Given the description of an element on the screen output the (x, y) to click on. 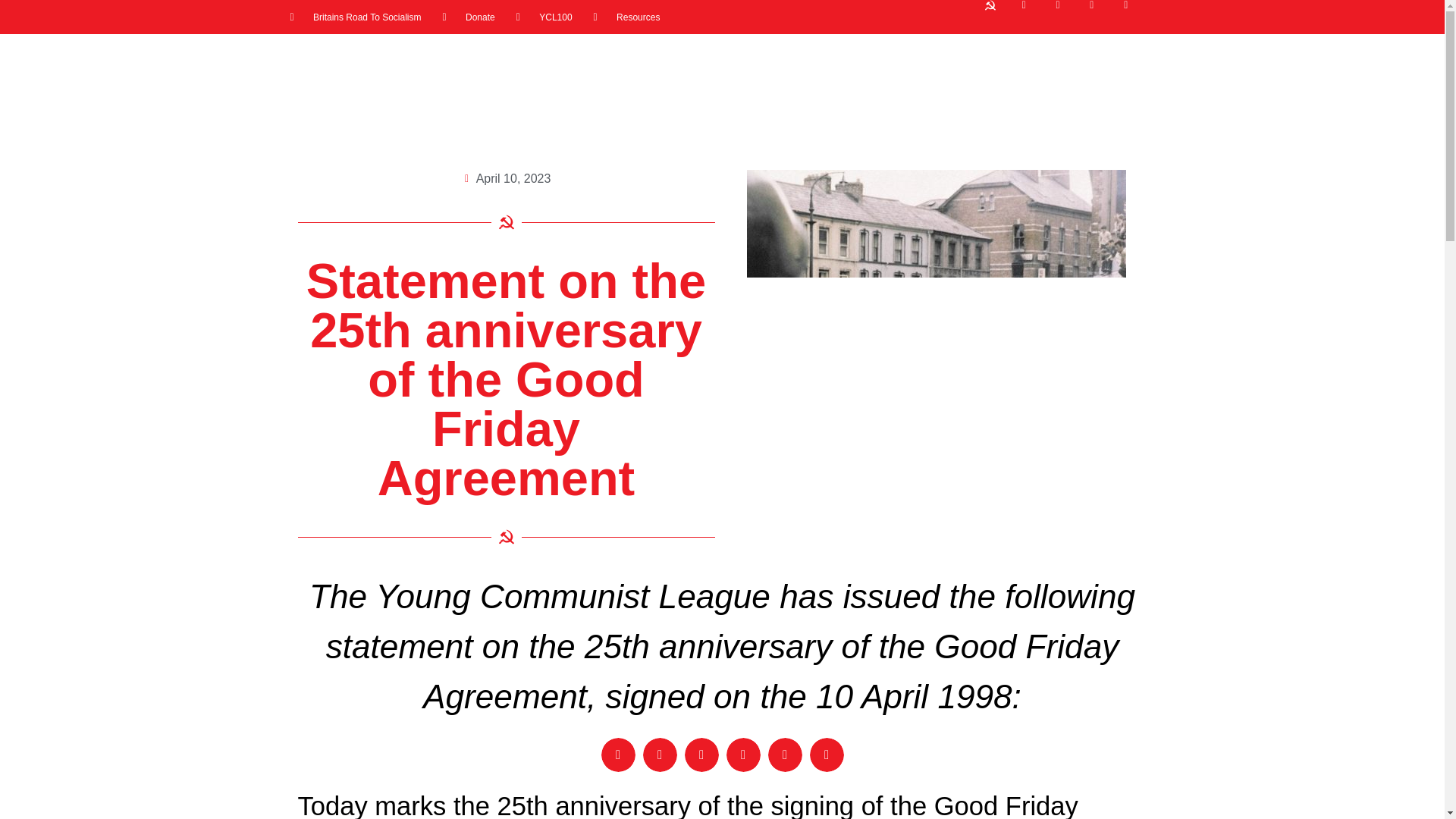
Britains Road To Socialism (354, 17)
YCL100 (544, 17)
Resources (627, 17)
Donate (468, 17)
